Given the description of an element on the screen output the (x, y) to click on. 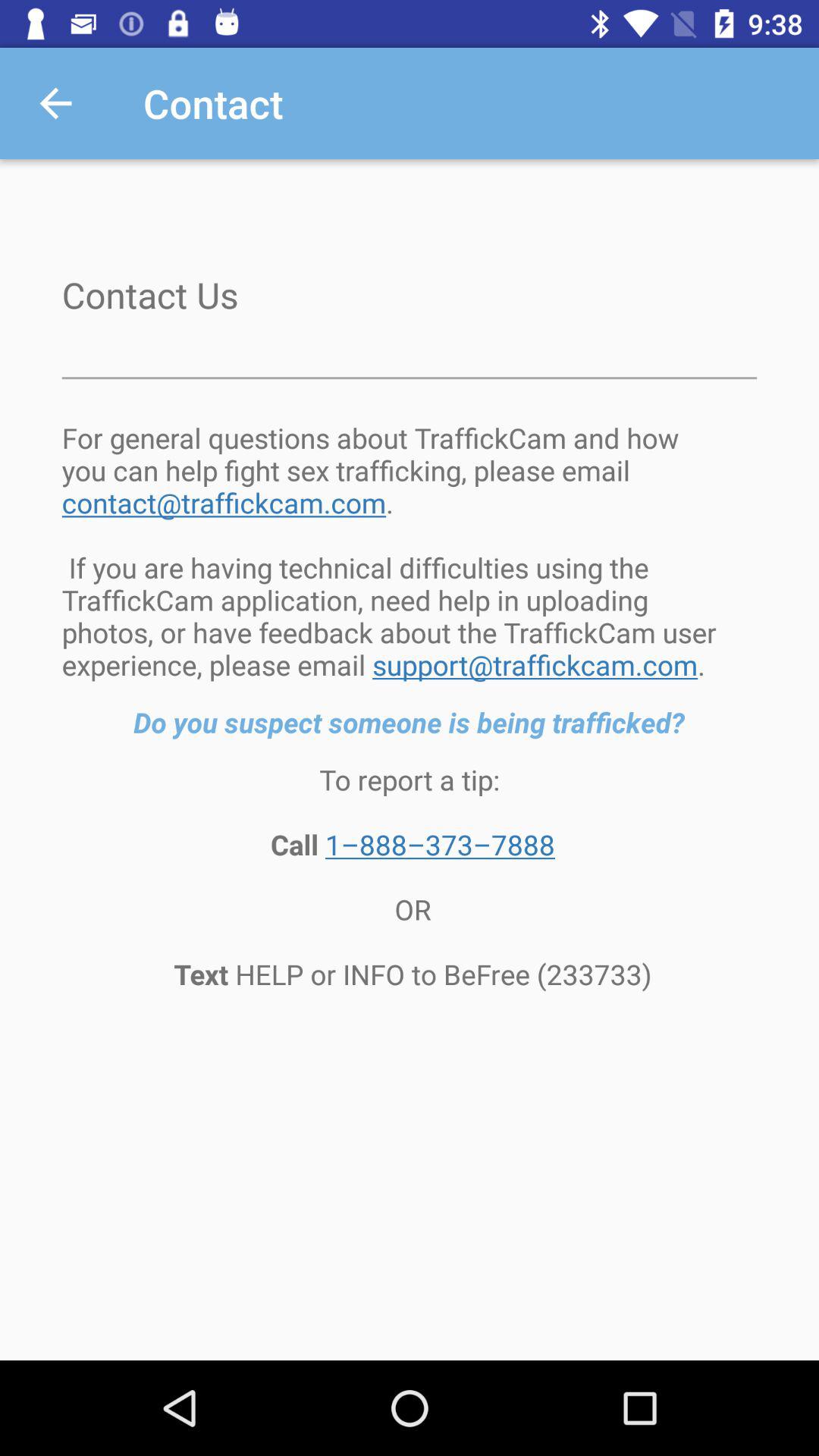
open the app next to the contact (55, 103)
